Given the description of an element on the screen output the (x, y) to click on. 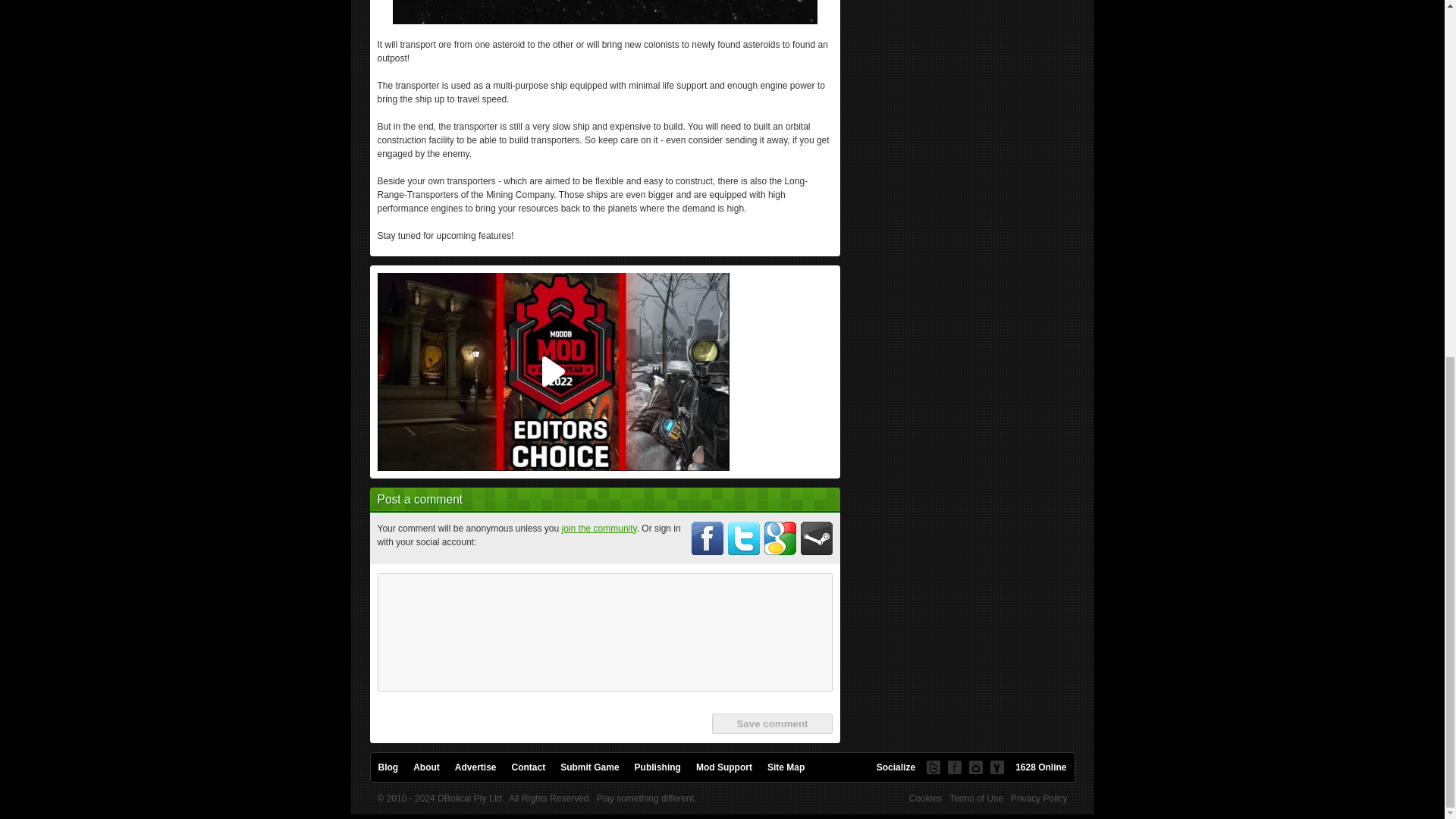
Save comment (771, 723)
Click to connect via Steam (816, 538)
Click to connect via Google (780, 538)
